Given the description of an element on the screen output the (x, y) to click on. 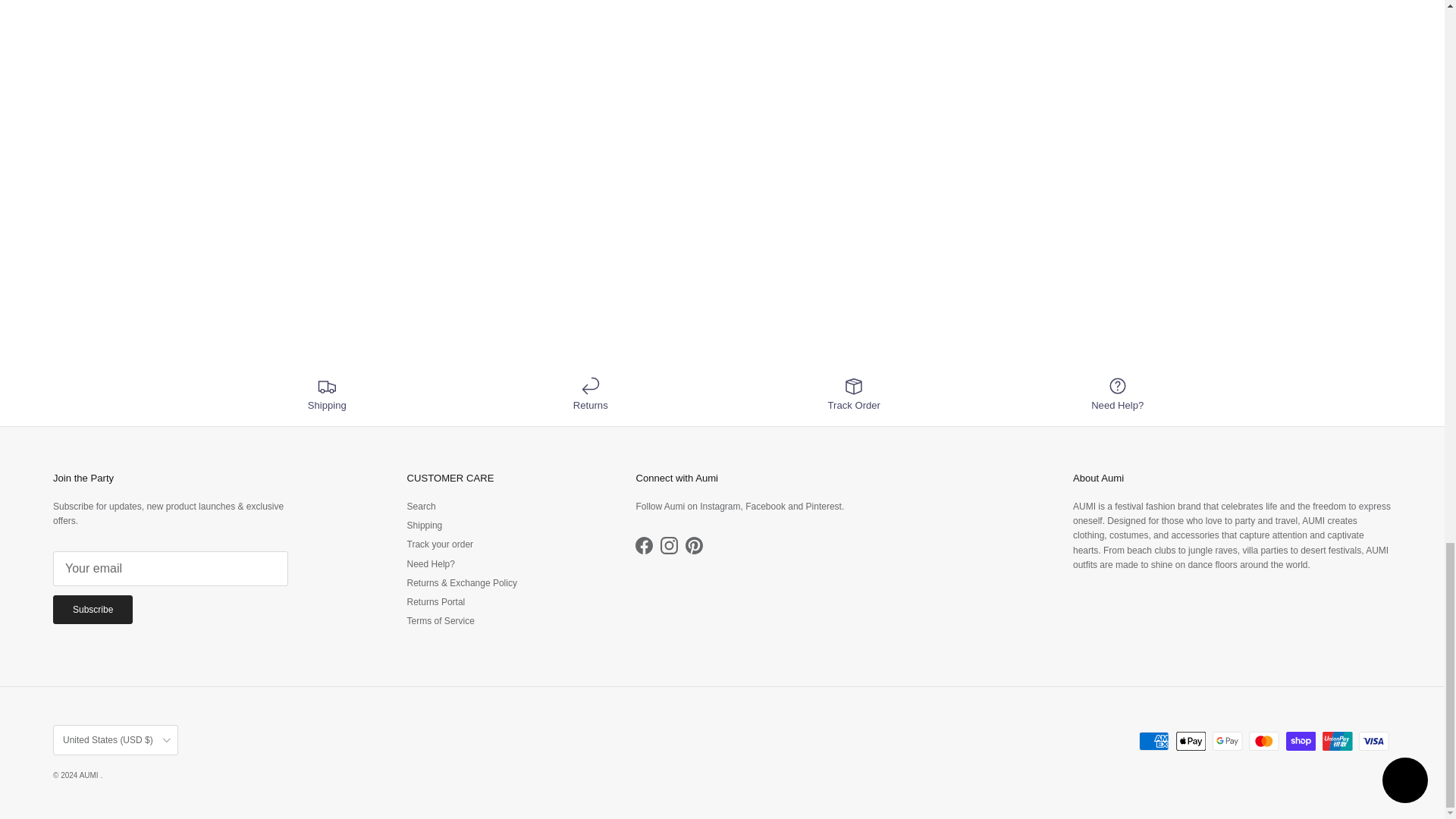
American Express (1153, 741)
Google Pay (1226, 741)
Apple Pay (1190, 741)
AUMI  on Instagram (669, 545)
AUMI  on Pinterest (694, 545)
AUMI  on Facebook (643, 545)
